Given the description of an element on the screen output the (x, y) to click on. 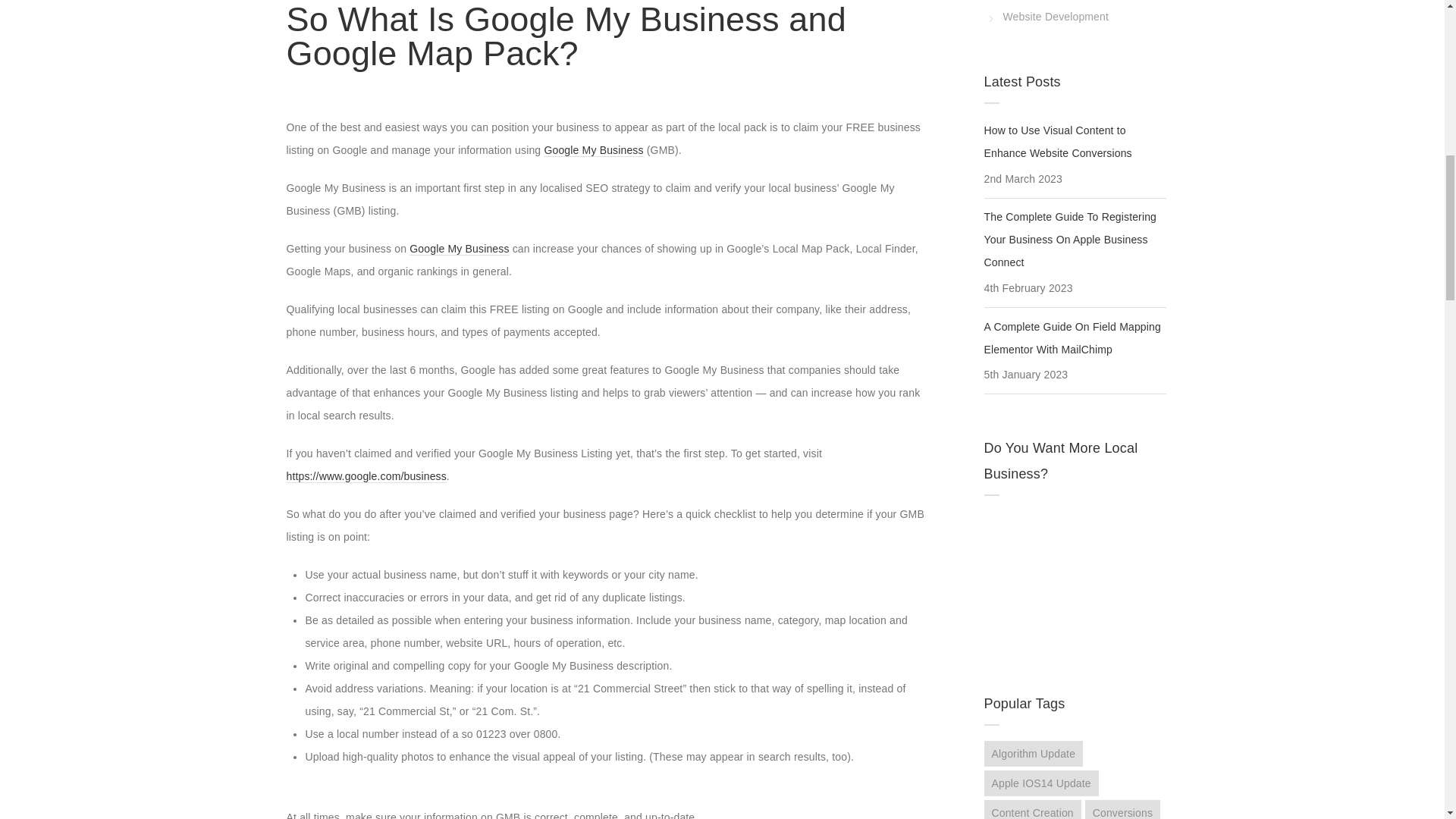
Google My Business (458, 248)
Google My Business (593, 150)
